Given the description of an element on the screen output the (x, y) to click on. 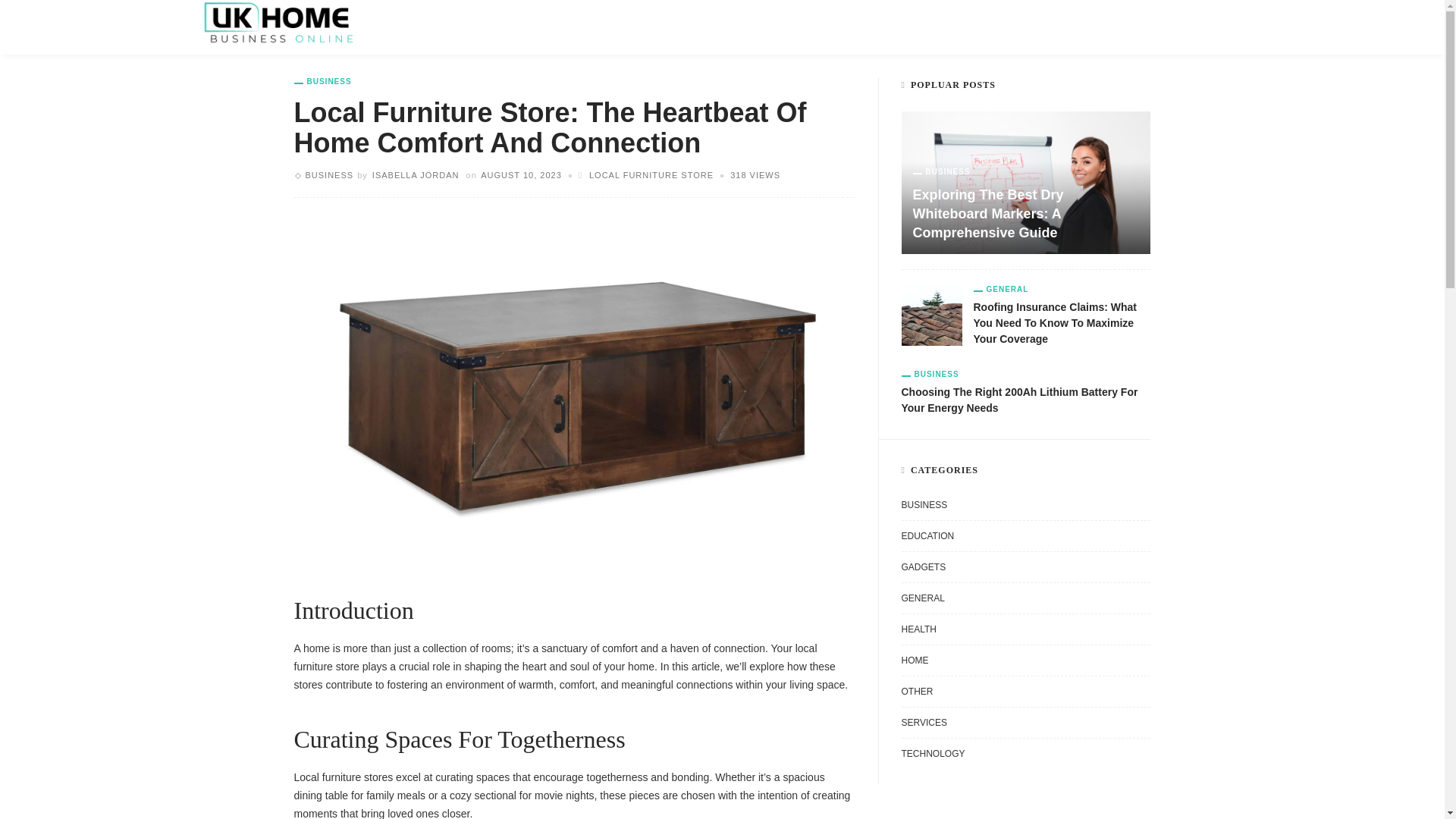
BLOG (550, 27)
BUSINESS (483, 27)
BUSINESS (323, 81)
ISABELLA JORDAN (416, 174)
LOCAL FURNITURE STORE (651, 174)
HOME (411, 27)
318 VIEWS (755, 174)
business (328, 174)
WRITE FOR US (635, 27)
business (323, 81)
Home Business Online (278, 21)
BUSINESS (328, 174)
